Given the description of an element on the screen output the (x, y) to click on. 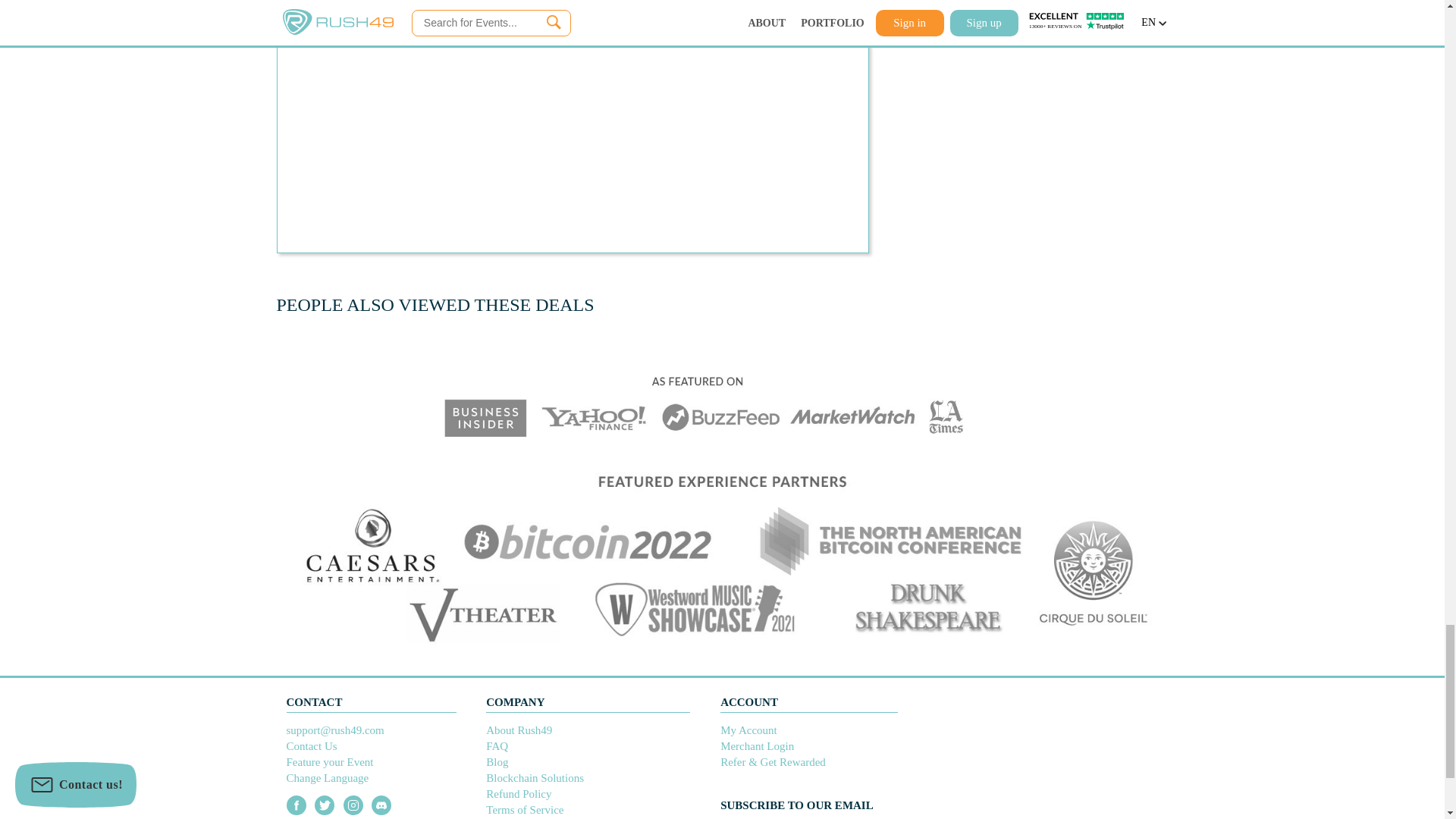
Blockchain Solutions (534, 777)
About Rush49 (518, 729)
FAQ (497, 746)
Change Language (327, 777)
Feature your Event (330, 761)
Contact Us (311, 746)
Blog (497, 761)
